Given the description of an element on the screen output the (x, y) to click on. 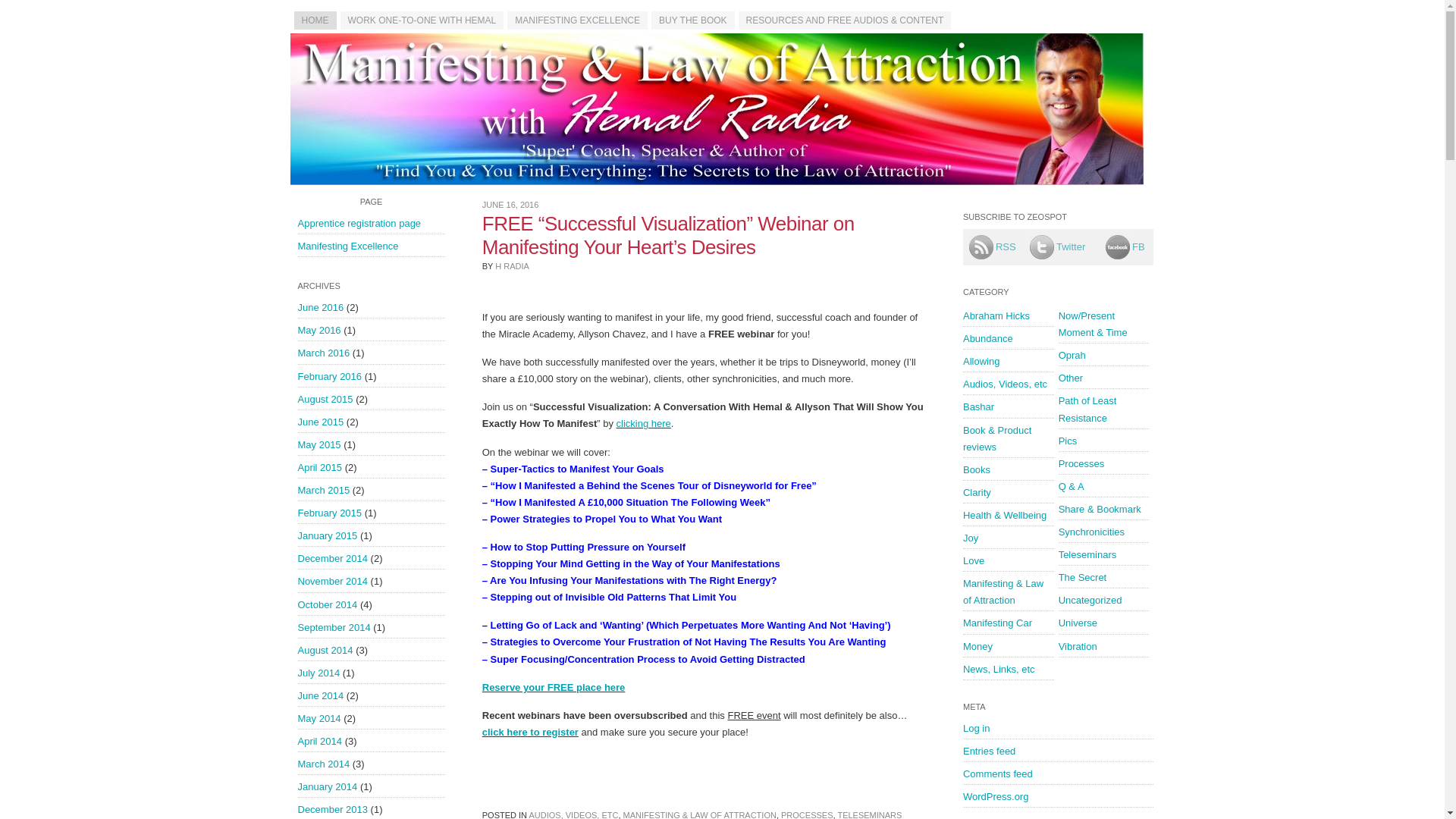
"Successful Visualization" Webinar (553, 686)
July 2014 (318, 672)
October 2014 (326, 604)
January 2015 (326, 535)
April 2015 (319, 467)
March 2016 (323, 352)
January 2014 (326, 786)
BUY THE BOOK (692, 20)
"Successful Visualization" Webinar (643, 423)
September 2014 (333, 627)
March 2014 (323, 763)
"Successful Visualization" Webinar (529, 731)
View all posts by H Radia (512, 266)
June 2015 (320, 421)
February 2015 (329, 512)
